Given the description of an element on the screen output the (x, y) to click on. 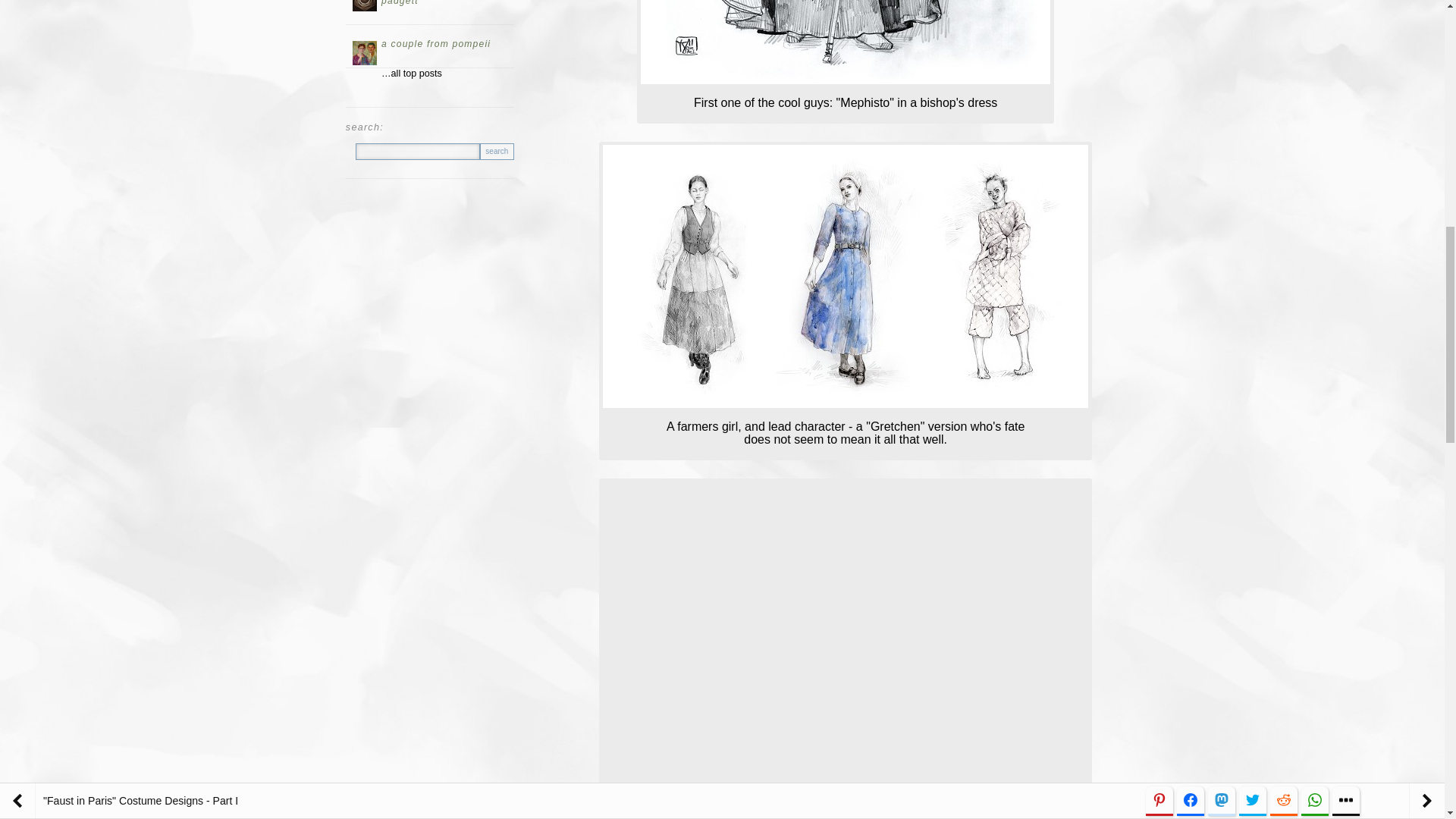
search (496, 151)
Faust in Paris - "Mephisto" in a bishops dress (844, 42)
Faust in Paris - Gretchen Version (844, 275)
